Given the description of an element on the screen output the (x, y) to click on. 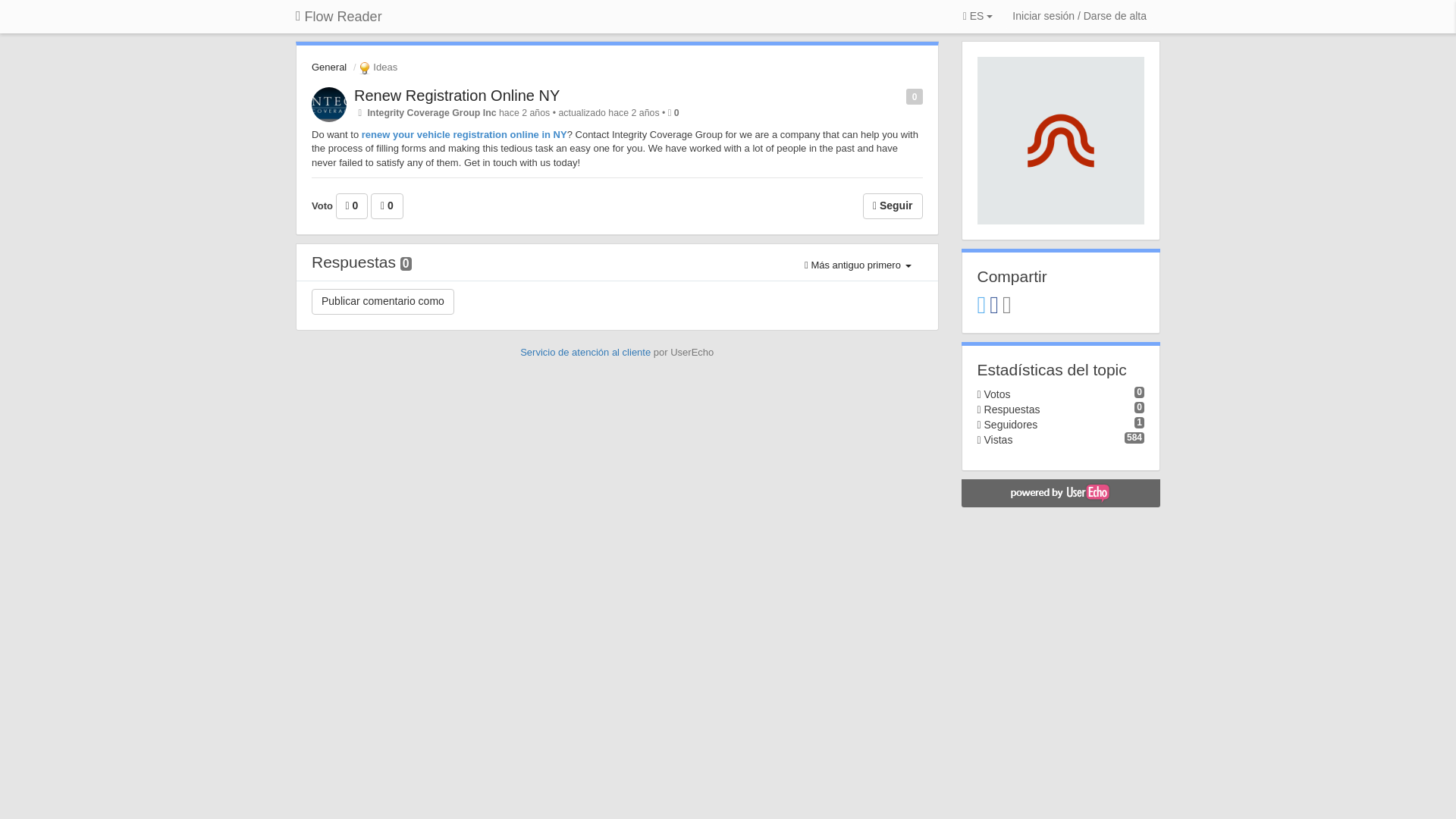
Renew Registration Online NY (456, 95)
0 (352, 206)
General (328, 66)
renew your vehicle registration online in NY (464, 134)
0 (387, 206)
Ideas (376, 66)
Publicar comentario como (382, 301)
Integrity Coverage Group Inc (431, 112)
ES (977, 16)
Flow Reader (338, 16)
